Given the description of an element on the screen output the (x, y) to click on. 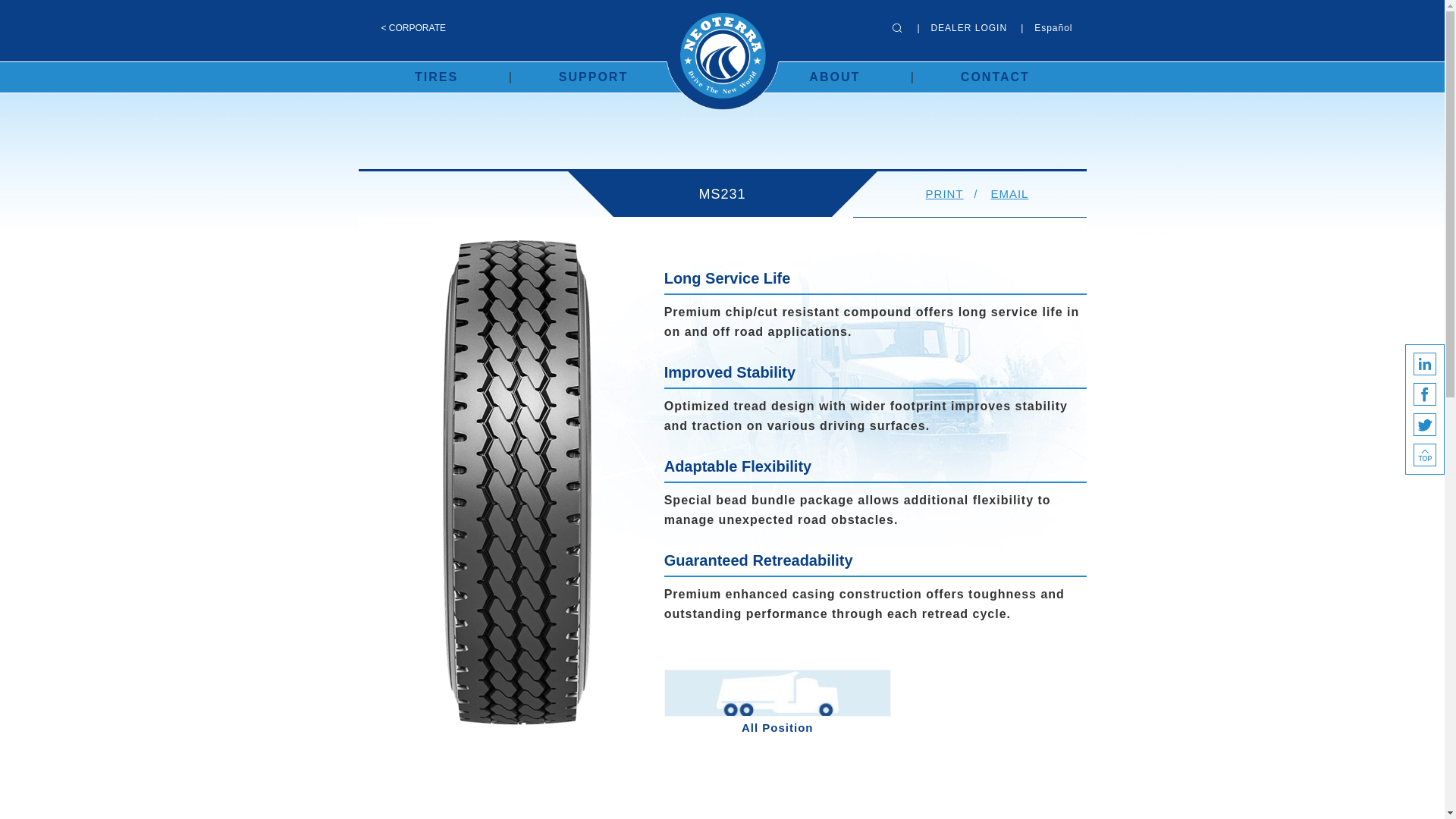
EMAIL (1009, 194)
ABOUT (834, 77)
CONTACT (995, 77)
SUPPORT (593, 77)
TIRES (436, 77)
PRINT (944, 194)
DEALER LOGIN (968, 28)
